Given the description of an element on the screen output the (x, y) to click on. 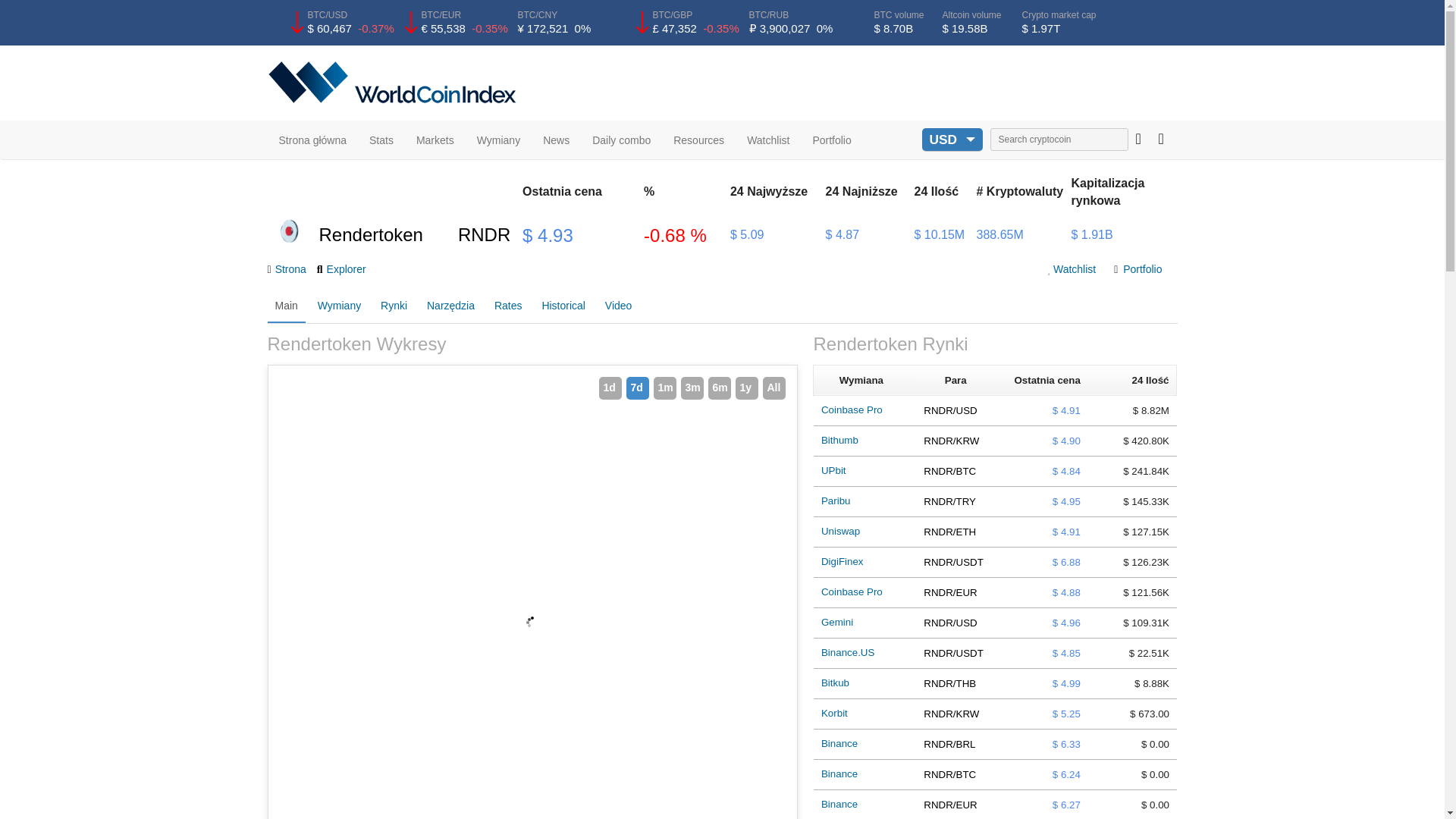
Markets (434, 139)
Worldcoinindex (393, 81)
Rendertoken (288, 231)
Wymiany (498, 139)
Stats (381, 139)
